Given the description of an element on the screen output the (x, y) to click on. 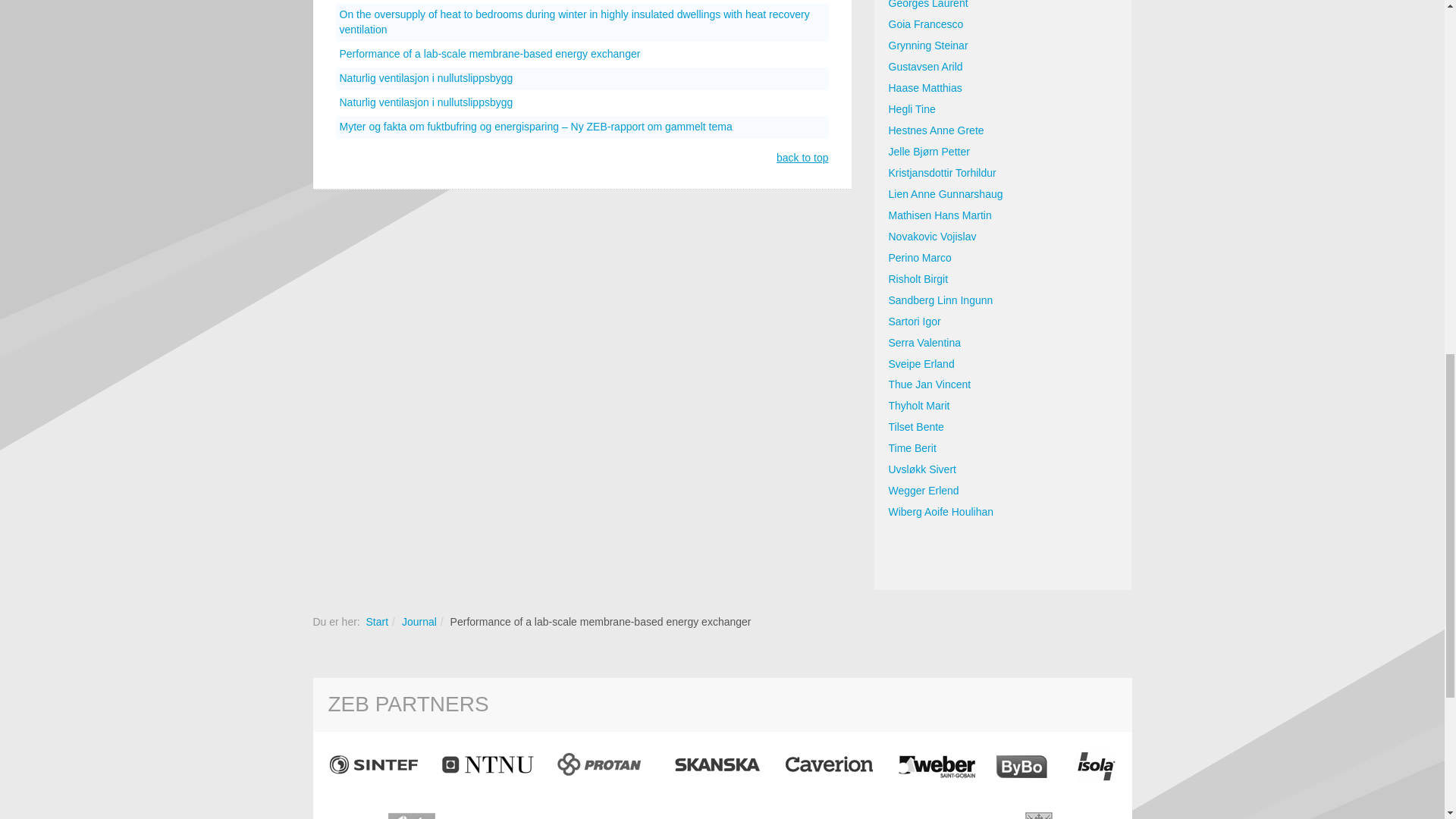
16 items tagged with Hegli Tine (1003, 109)
15 items tagged with Kristjansdottir Torhildur (1003, 173)
37 items tagged with Georges Laurent (1003, 7)
105 items tagged with Gustavsen Arild (1003, 66)
50 items tagged with Hestnes Anne Grete (1003, 130)
23 items tagged with Haase Matthias (1003, 88)
33 items tagged with Grynning Steinar (1003, 46)
33 items tagged with Goia Francesco (1003, 25)
